Given the description of an element on the screen output the (x, y) to click on. 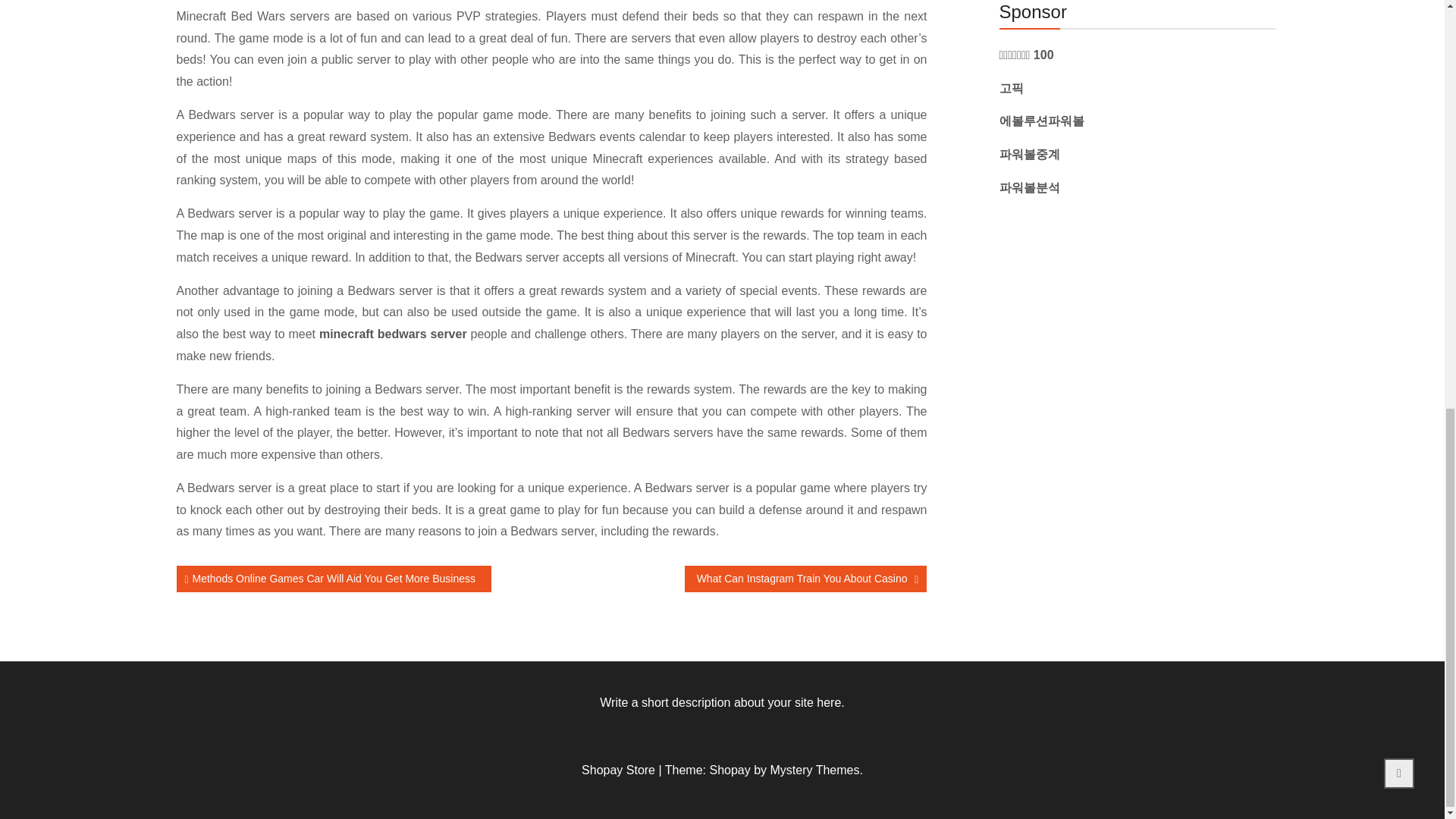
Methods Online Games Car Will Aid You Get More Business (334, 578)
Mystery Themes (815, 769)
minecraft bedwars server (392, 333)
What Can Instagram Train You About Casino (805, 578)
